Given the description of an element on the screen output the (x, y) to click on. 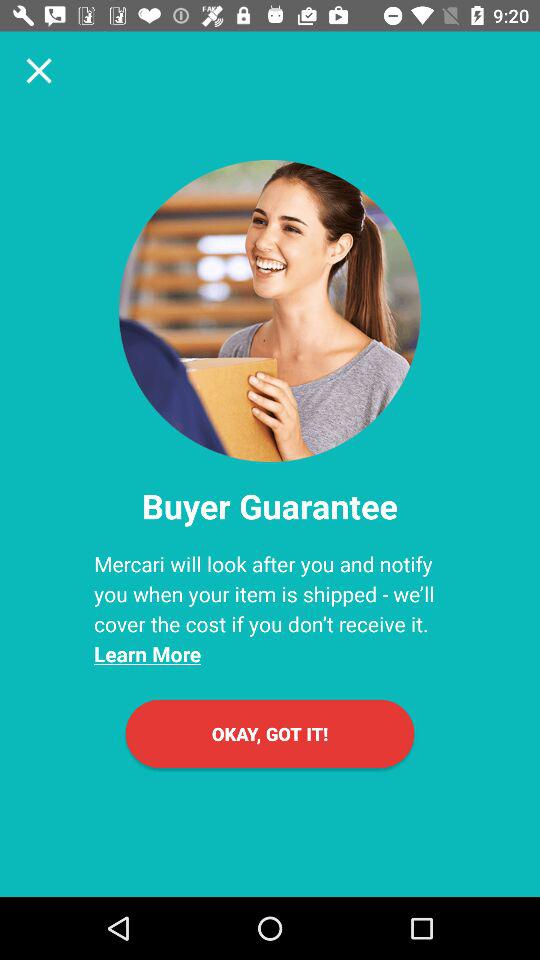
jump until mercari will look icon (269, 608)
